Given the description of an element on the screen output the (x, y) to click on. 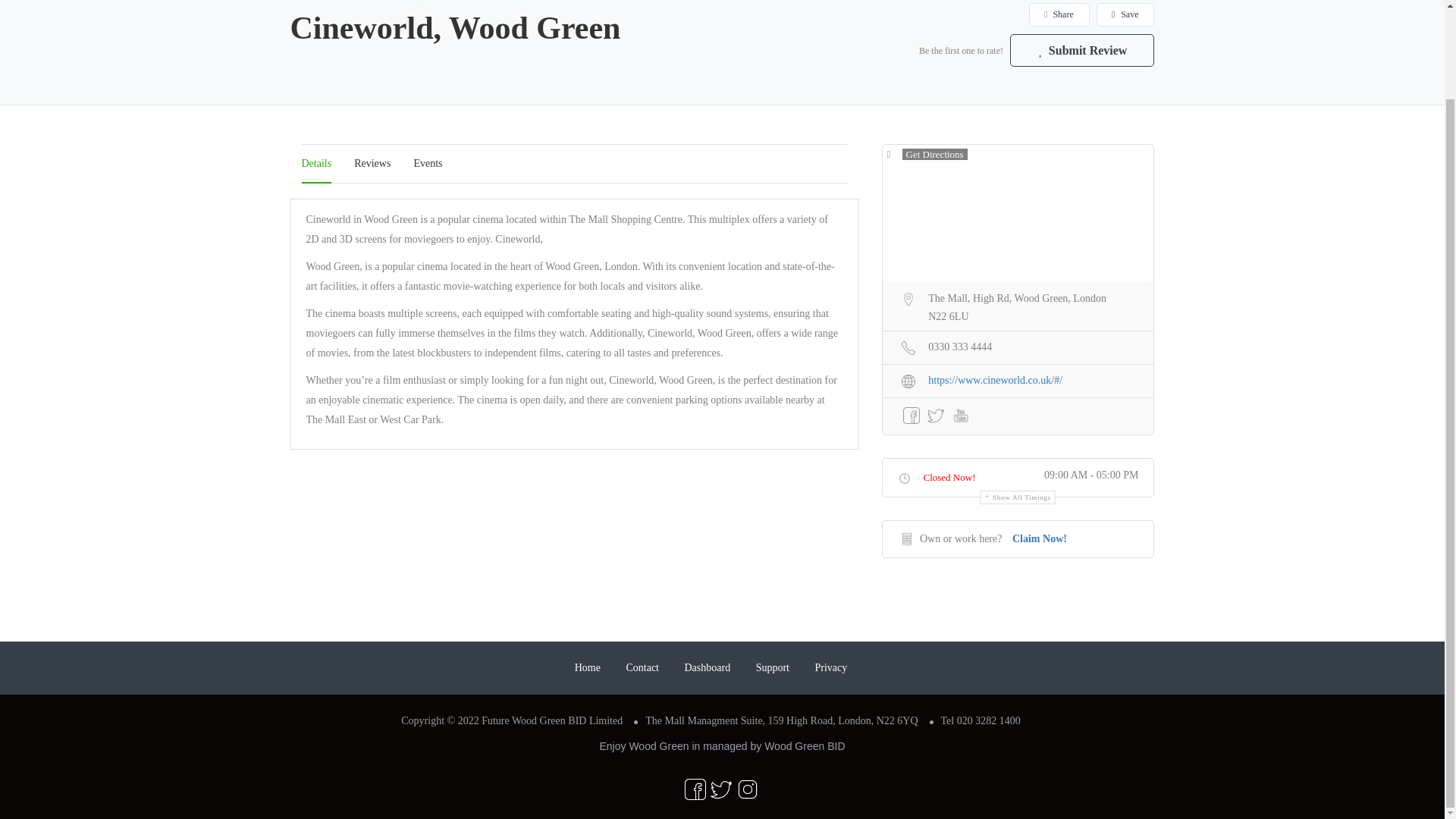
Submit (413, 401)
Save (1125, 14)
Share (1058, 14)
